Given the description of an element on the screen output the (x, y) to click on. 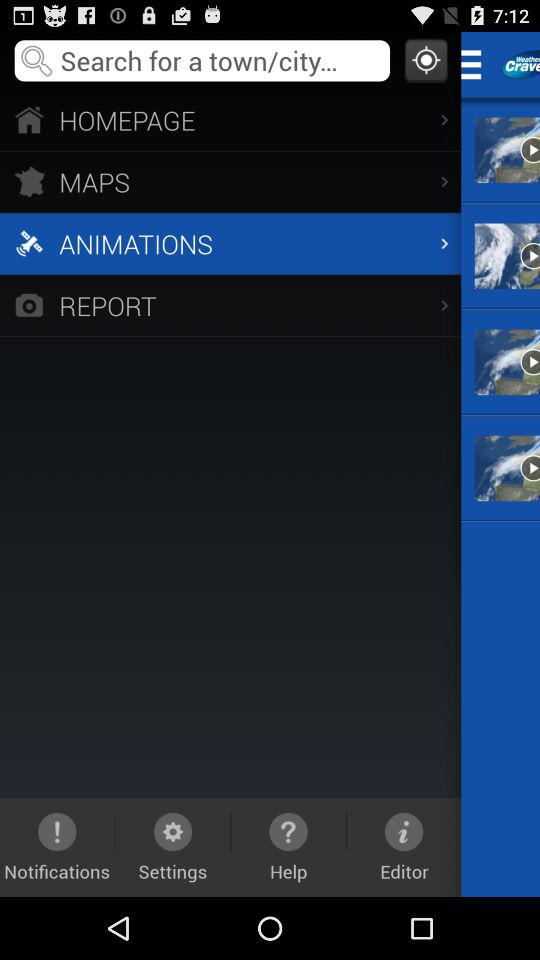
click on start button (477, 63)
